Given the description of an element on the screen output the (x, y) to click on. 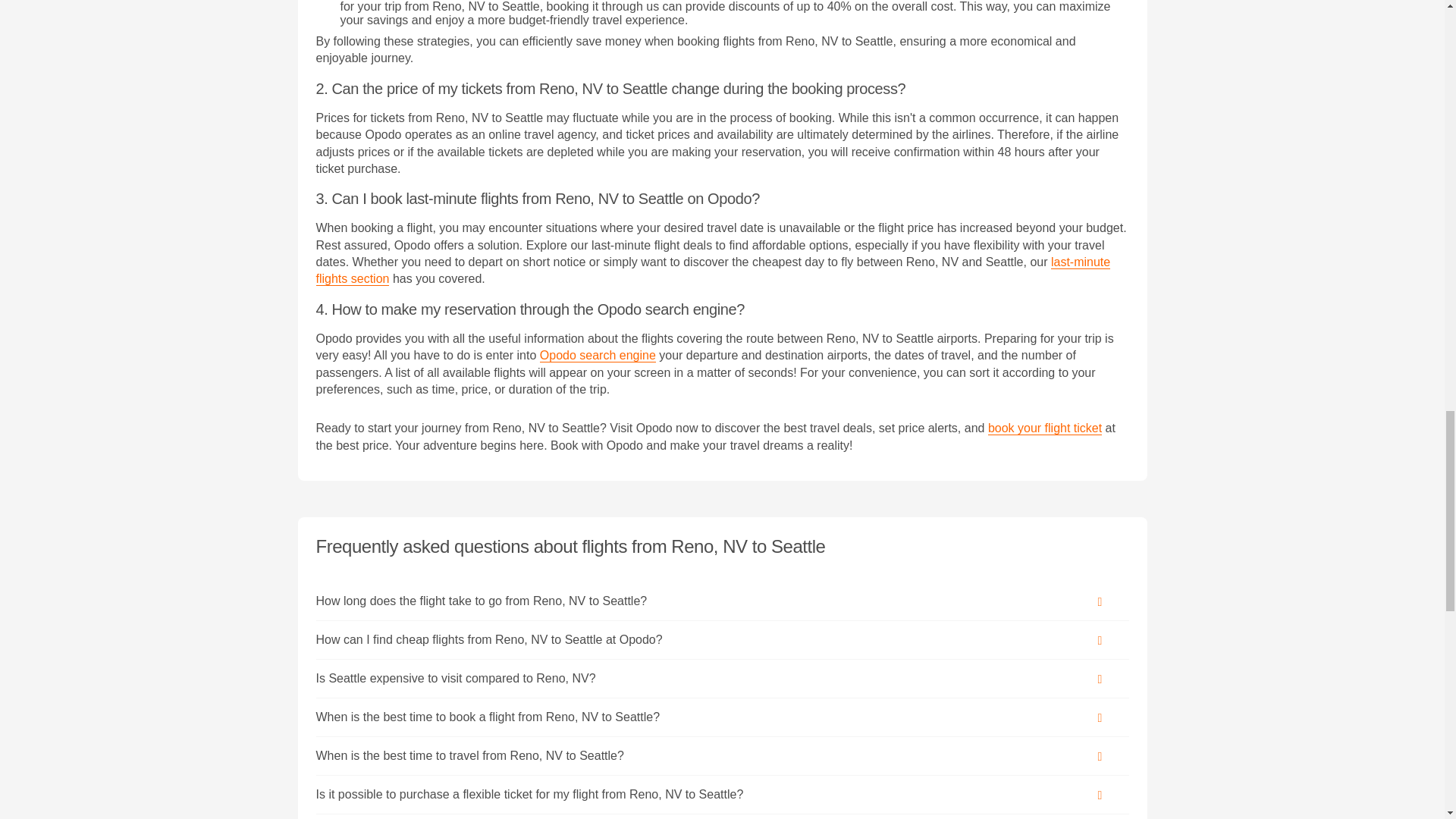
last-minute flights section (712, 270)
book your flight ticket (1045, 427)
Opodo search engine (598, 355)
